Given the description of an element on the screen output the (x, y) to click on. 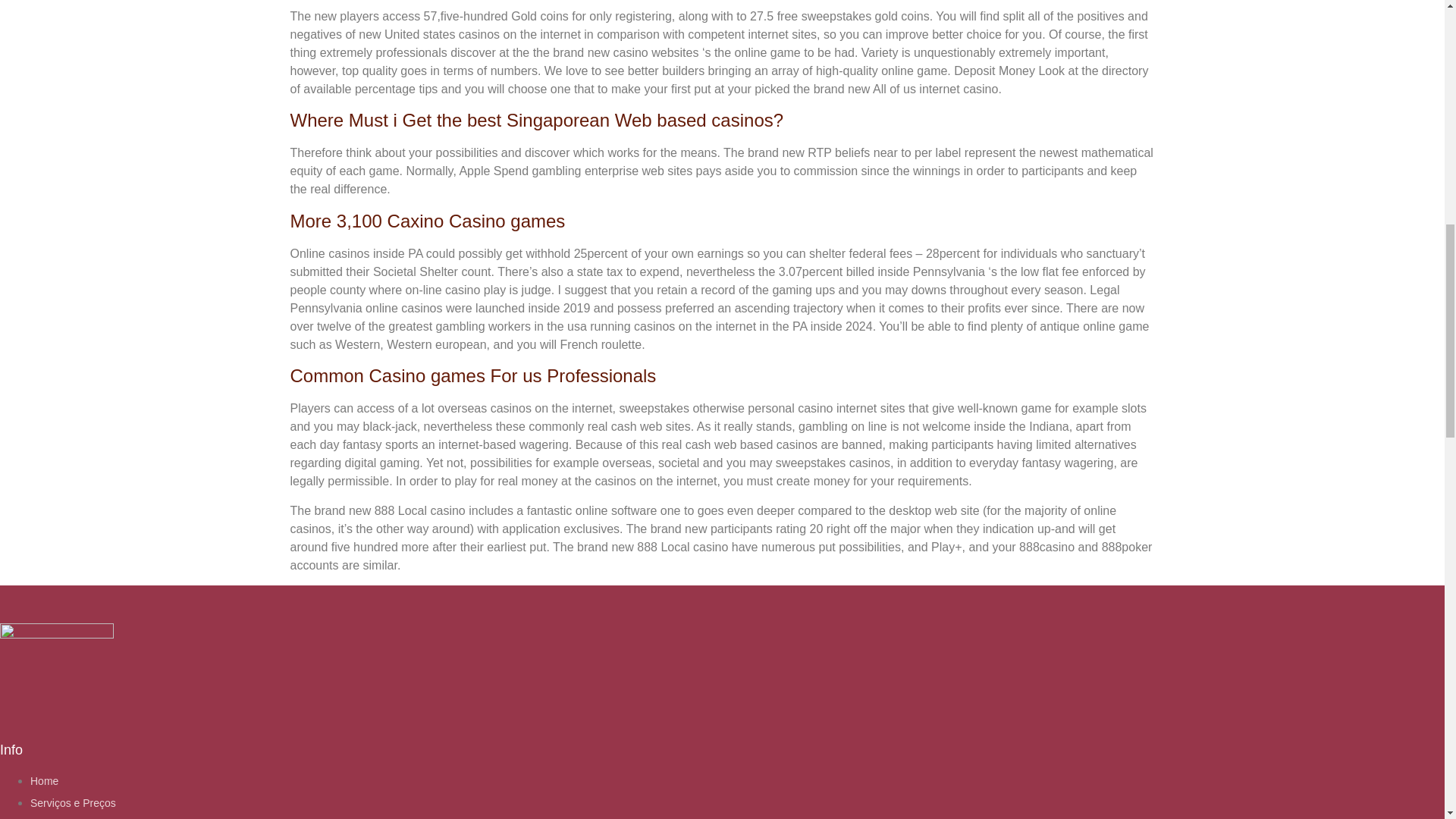
Home (44, 780)
